Given the description of an element on the screen output the (x, y) to click on. 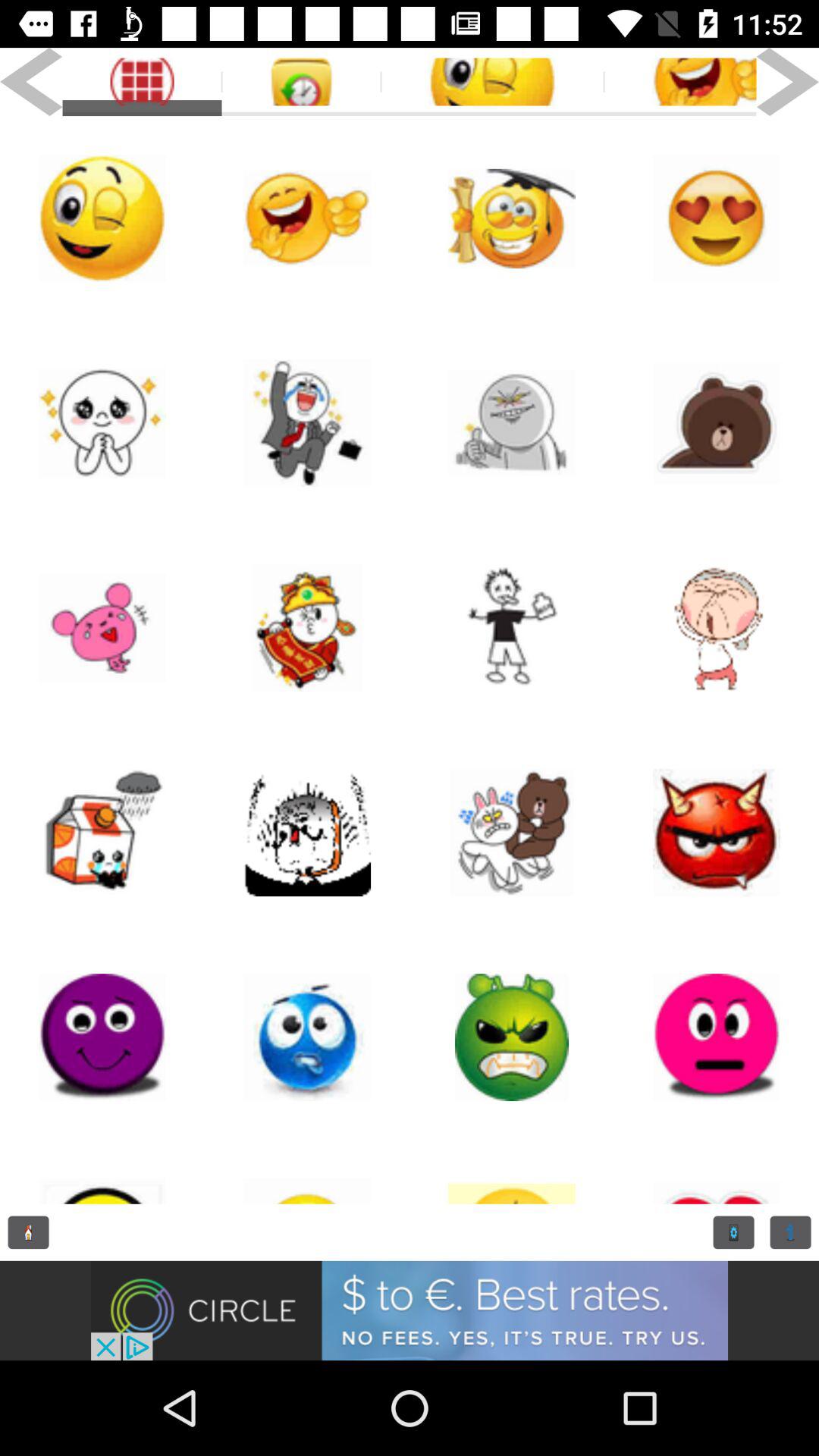
crying pictrue (102, 422)
